Given the description of an element on the screen output the (x, y) to click on. 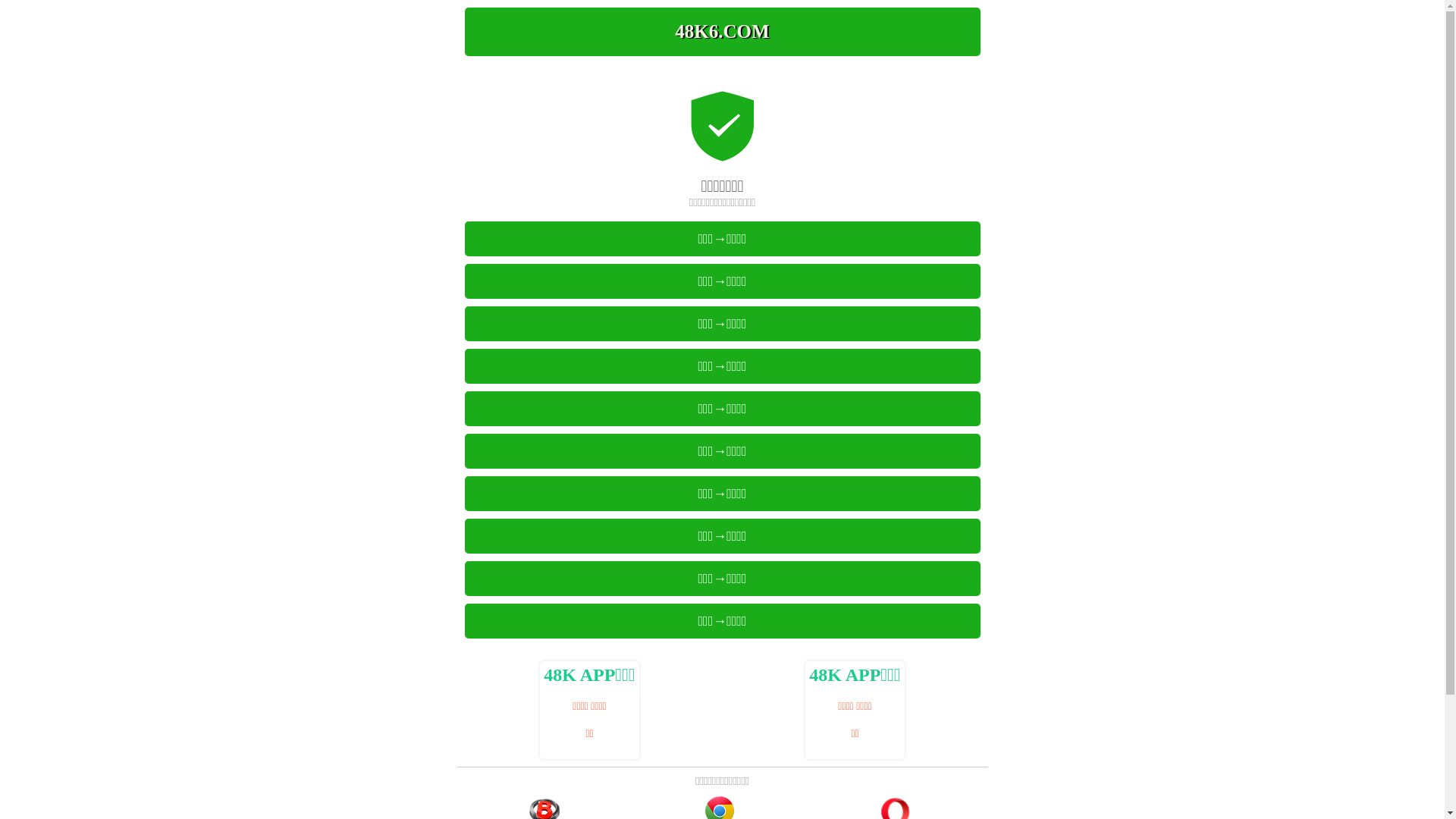
48K6.COM Element type: text (721, 31)
